Given the description of an element on the screen output the (x, y) to click on. 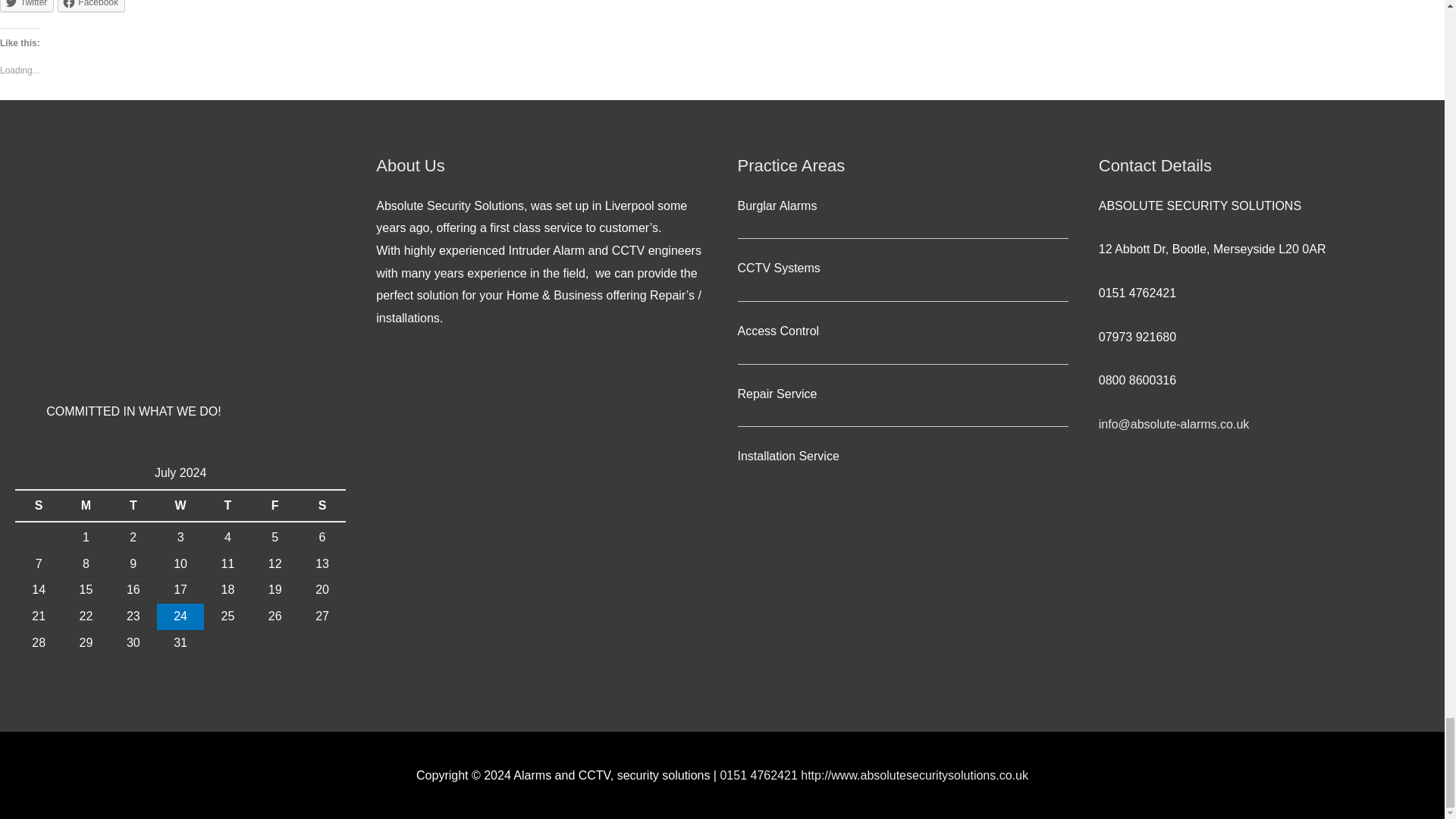
Twitter (26, 6)
Click to share on Twitter (26, 6)
Tuesday (133, 505)
Monday (85, 505)
Saturday (322, 505)
Click to share on Facebook (91, 6)
Facebook (91, 6)
Wednesday (180, 505)
Friday (274, 505)
Thursday (226, 505)
Sunday (38, 505)
